Given the description of an element on the screen output the (x, y) to click on. 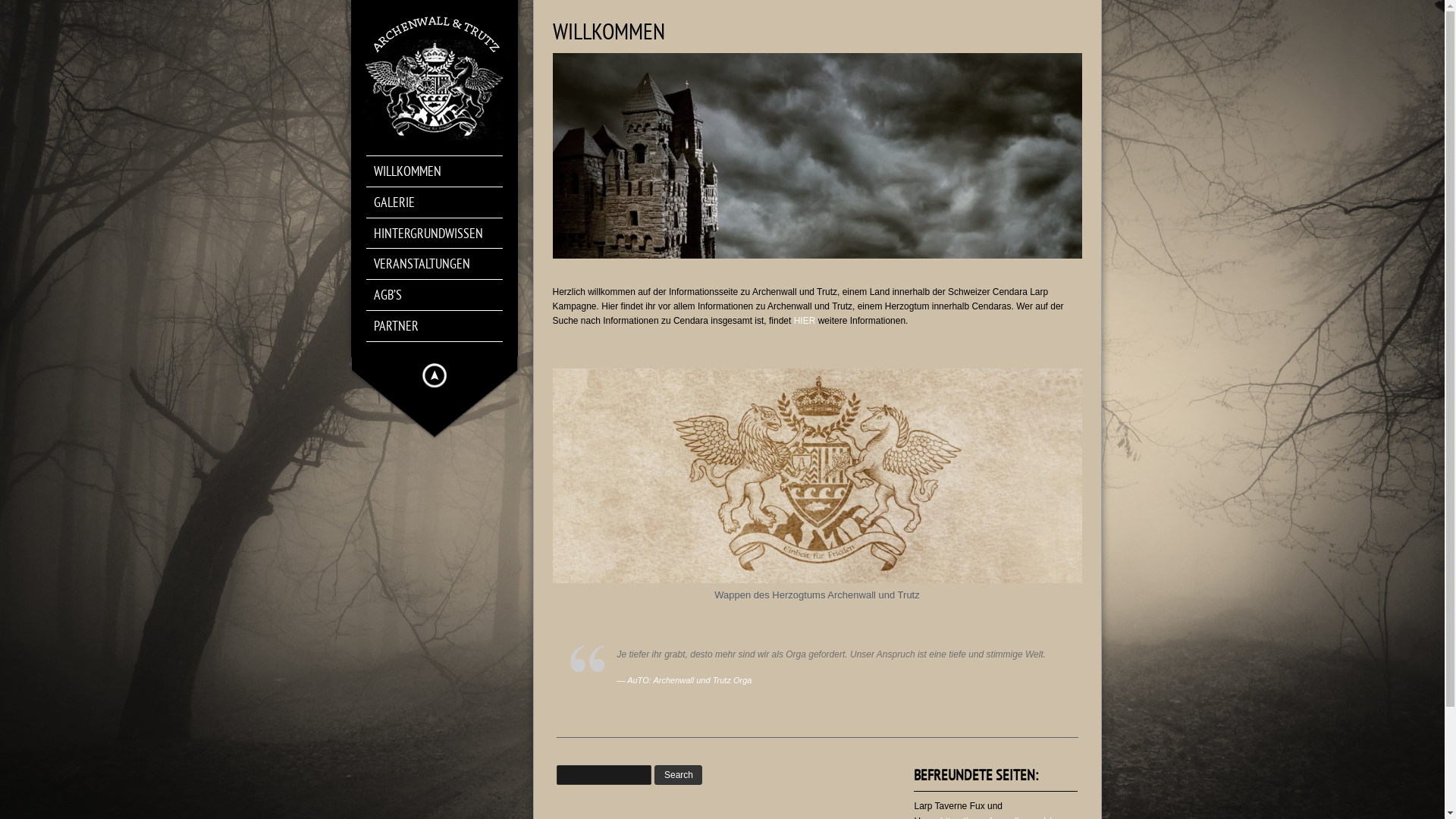
PARTNER Element type: text (441, 325)
Archenwall und Trutz Element type: hover (433, 75)
HIER Element type: text (804, 320)
VERANSTALTUNGEN Element type: text (441, 263)
HINTERGRUNDWISSEN Element type: text (441, 233)
GALERIE Element type: text (441, 202)
Search Element type: text (678, 774)
WILLKOMMEN Element type: text (441, 170)
Hide the navigation Element type: hover (433, 375)
